Given the description of an element on the screen output the (x, y) to click on. 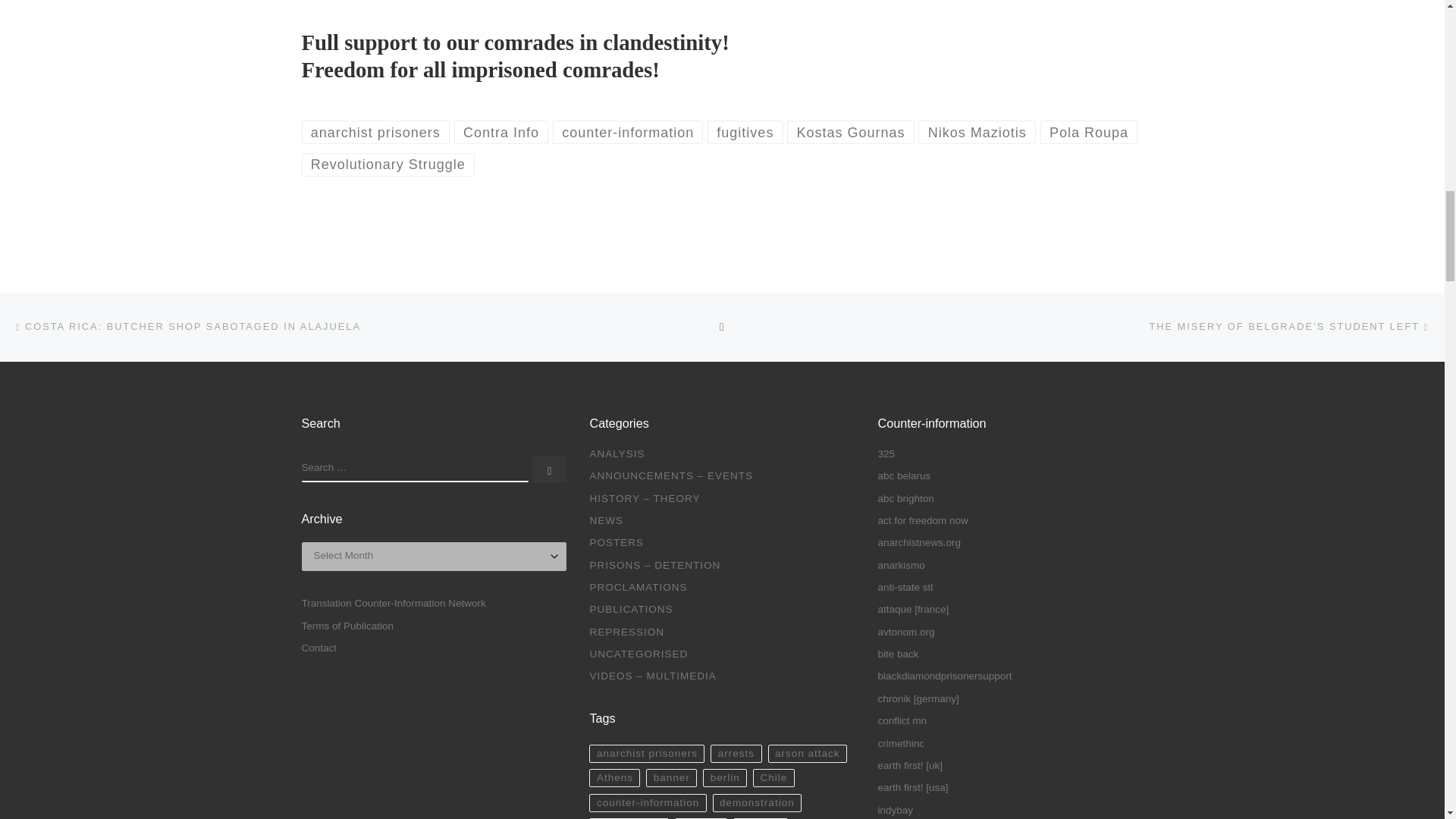
anarchist prisoners (375, 132)
View all posts in Pola Roupa (1089, 132)
View all posts in Kostas Gournas (850, 132)
View all posts in Contra Info (501, 132)
View all posts in fugitives (745, 132)
Nikos Maziotis (976, 132)
Contra Info (501, 132)
counter-information (628, 132)
fugitives (745, 132)
View all posts in Nikos Maziotis (976, 132)
